Given the description of an element on the screen output the (x, y) to click on. 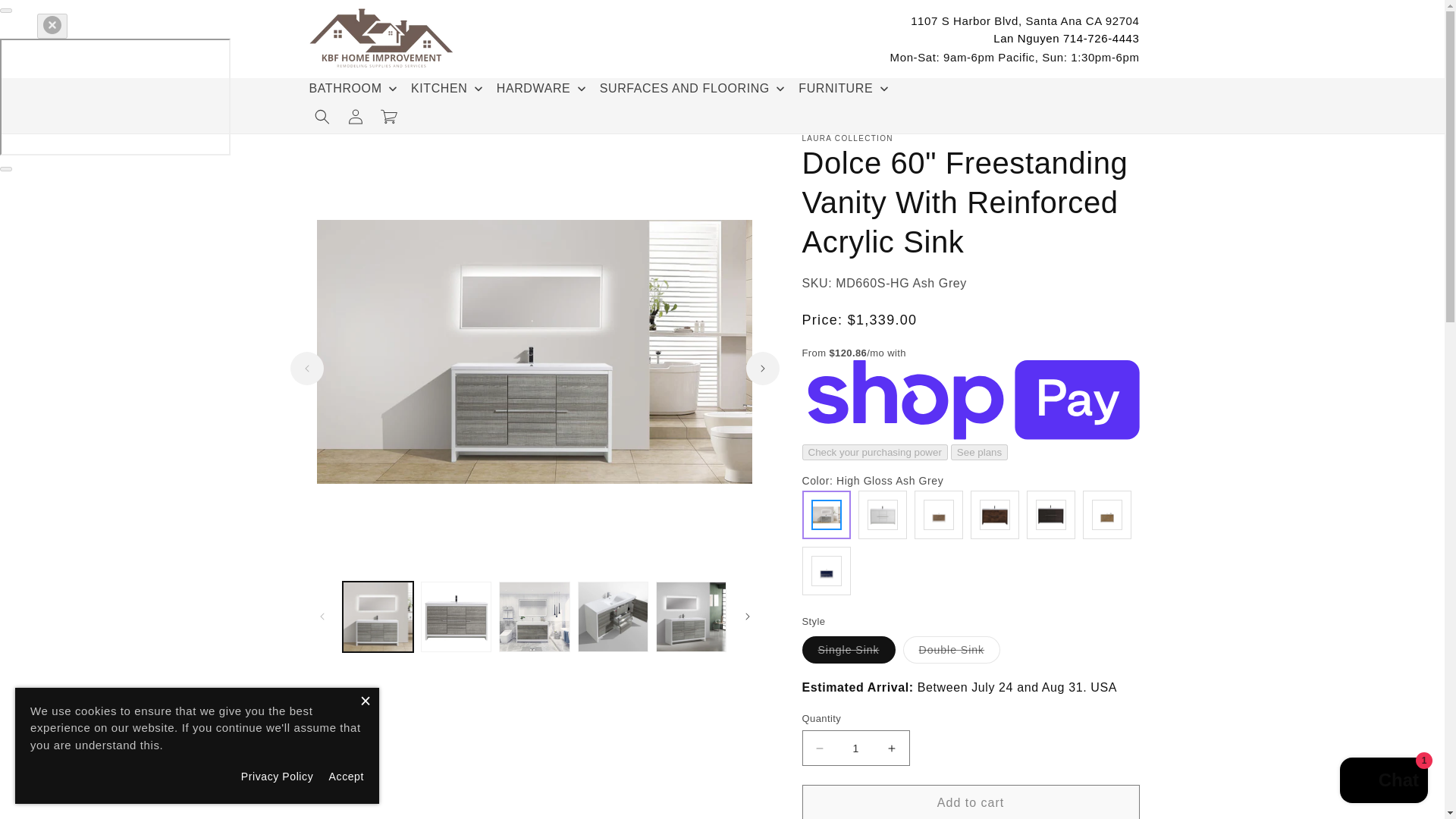
Skip to content (45, 17)
Shopify online store chat (1383, 781)
1 (856, 747)
